Given the description of an element on the screen output the (x, y) to click on. 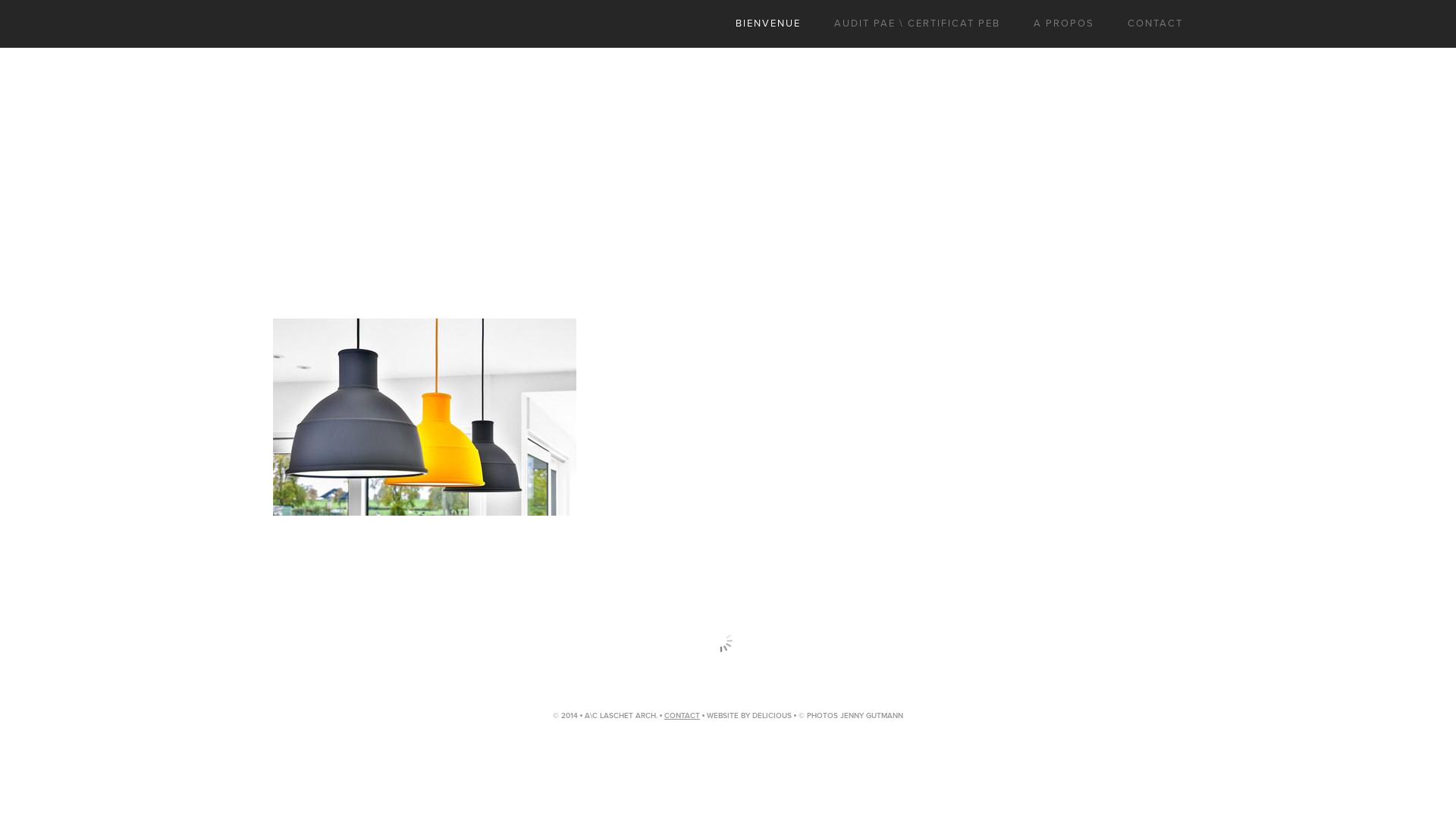
BIENVENUE Element type: text (767, 23)
A PROPOS Element type: text (1063, 23)
CONTACT Element type: text (681, 715)
CONTACT Element type: text (1155, 23)
LaschetArch Element type: text (292, 22)
A\C LASCHET ARCH. Element type: text (620, 715)
DELICIOUS Element type: text (771, 715)
AUDIT PAE \ CERTIFICAT PEB Element type: text (917, 23)
JENNY GUTMANN Element type: text (871, 715)
